Given the description of an element on the screen output the (x, y) to click on. 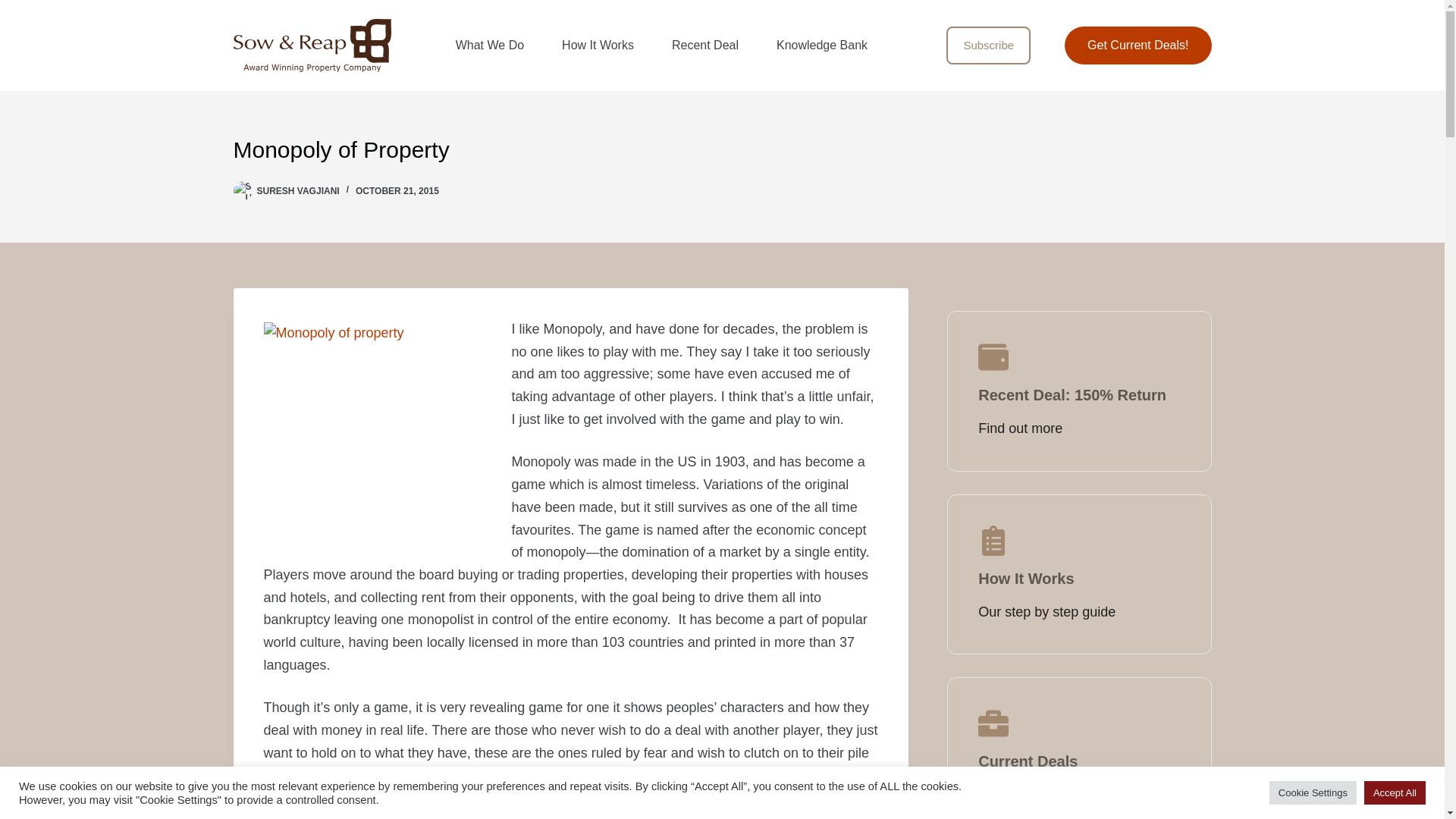
Knowledge Bank (821, 45)
Get Current Deals! (1137, 45)
Monopoly of Property (721, 149)
Skip to content (15, 7)
Subscribe (988, 45)
Recent Deal (704, 45)
How It Works (597, 45)
What We Do (489, 45)
SURESH VAGJIANI (297, 190)
Posts by Suresh Vagjiani (297, 190)
